Given the description of an element on the screen output the (x, y) to click on. 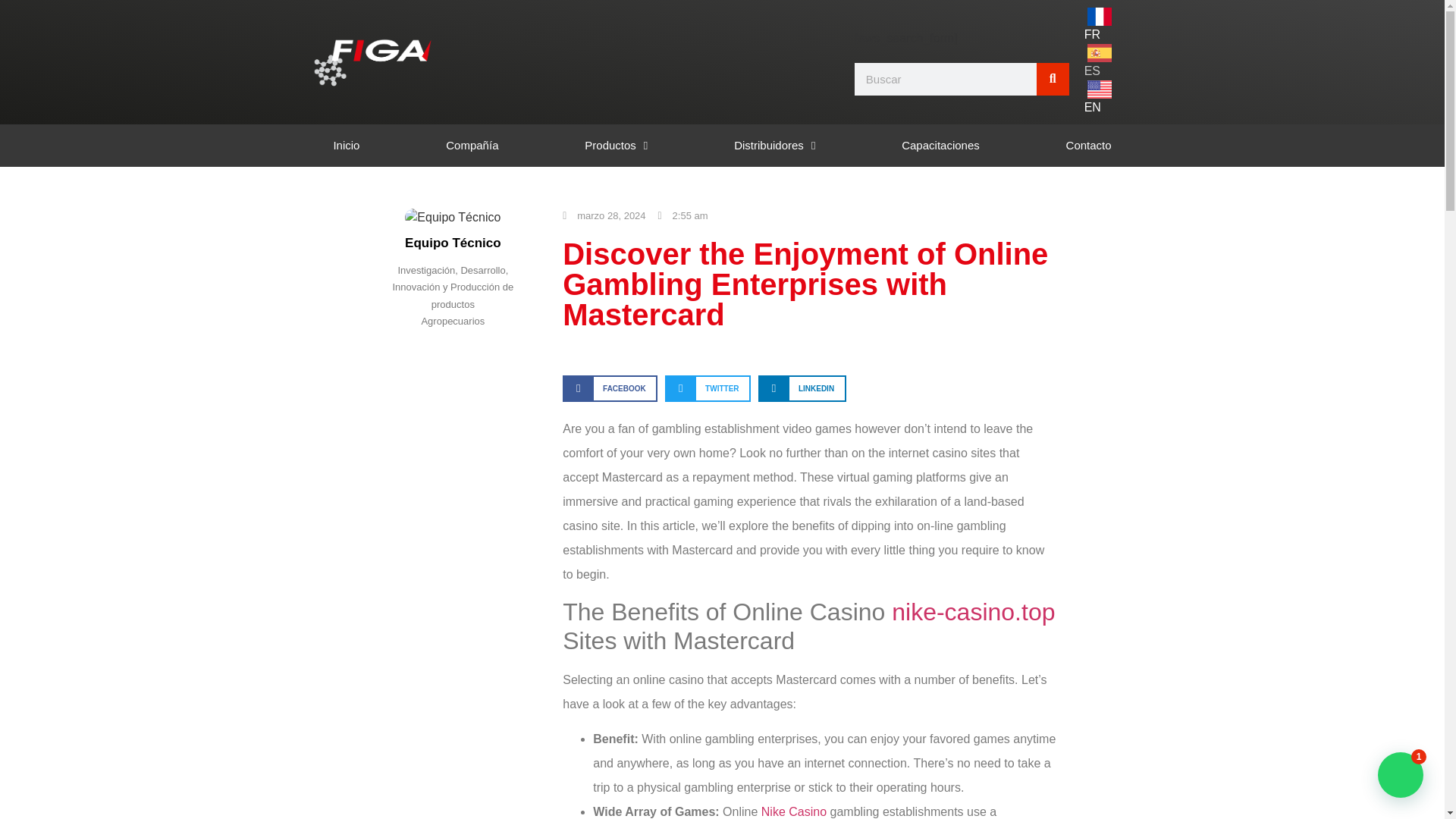
Inicio (346, 145)
Productos (615, 145)
